Given the description of an element on the screen output the (x, y) to click on. 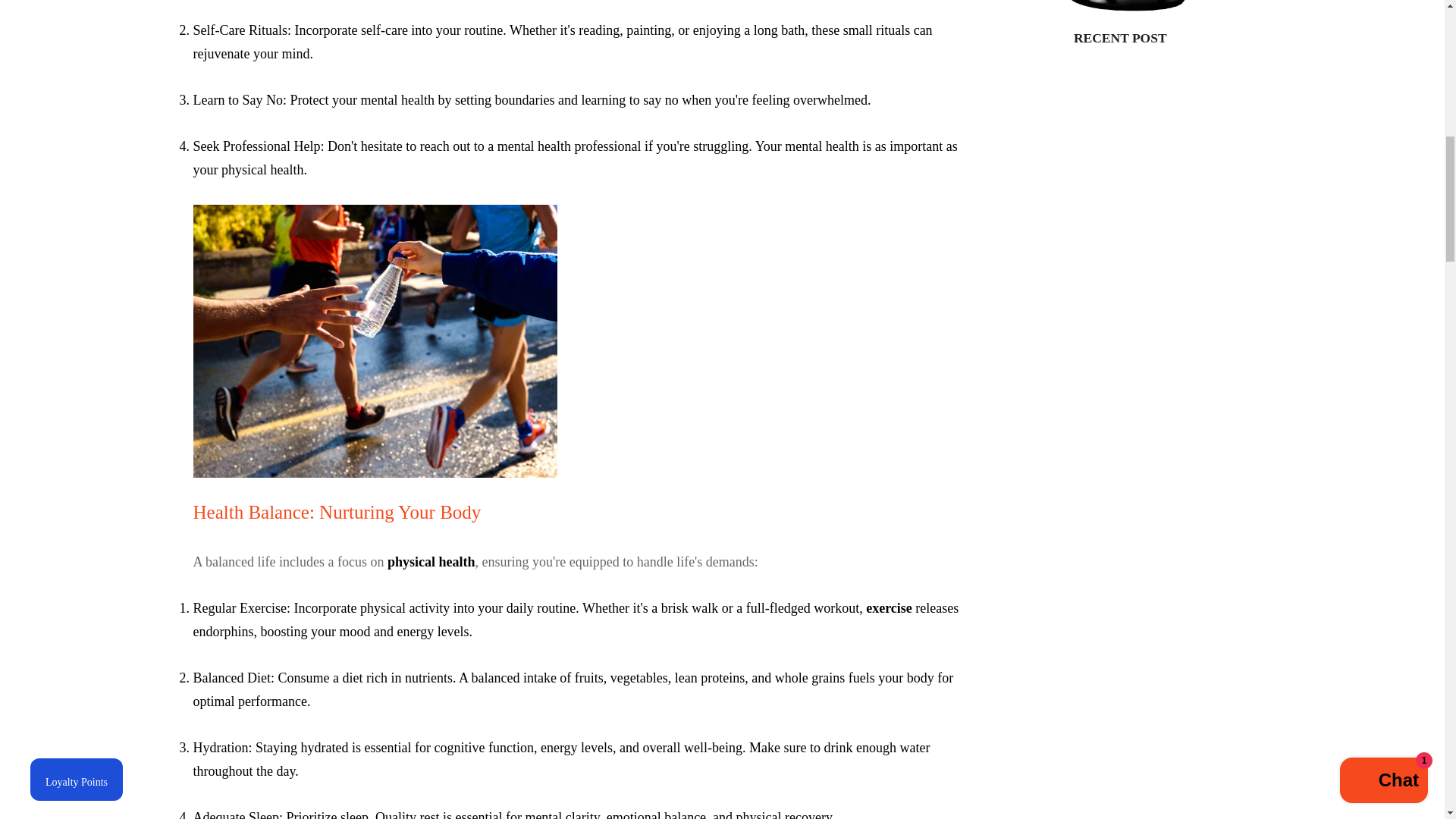
exercise (889, 607)
physical health (431, 561)
